Given the description of an element on the screen output the (x, y) to click on. 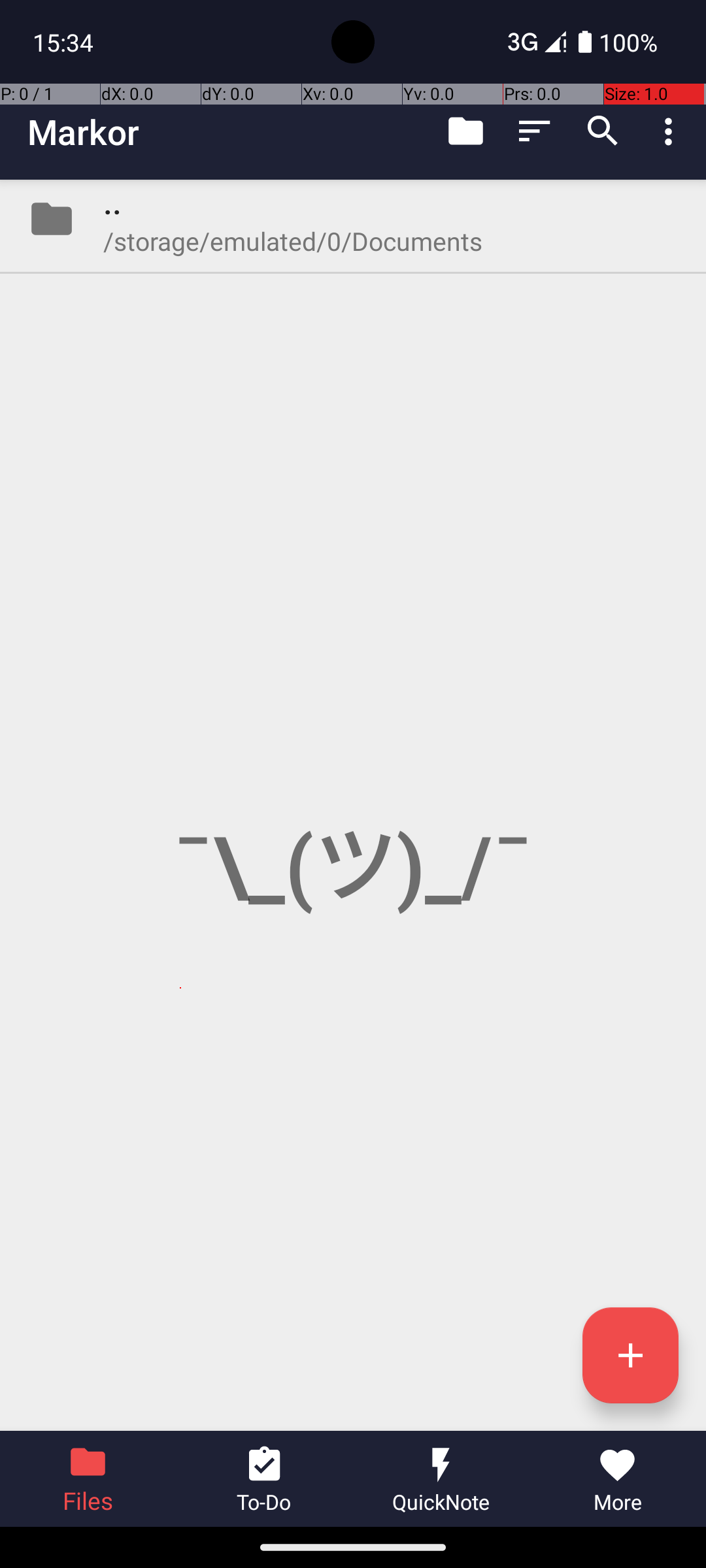
¯\_(ツ)_/¯ Element type: android.widget.TextView (353, 804)
